Given the description of an element on the screen output the (x, y) to click on. 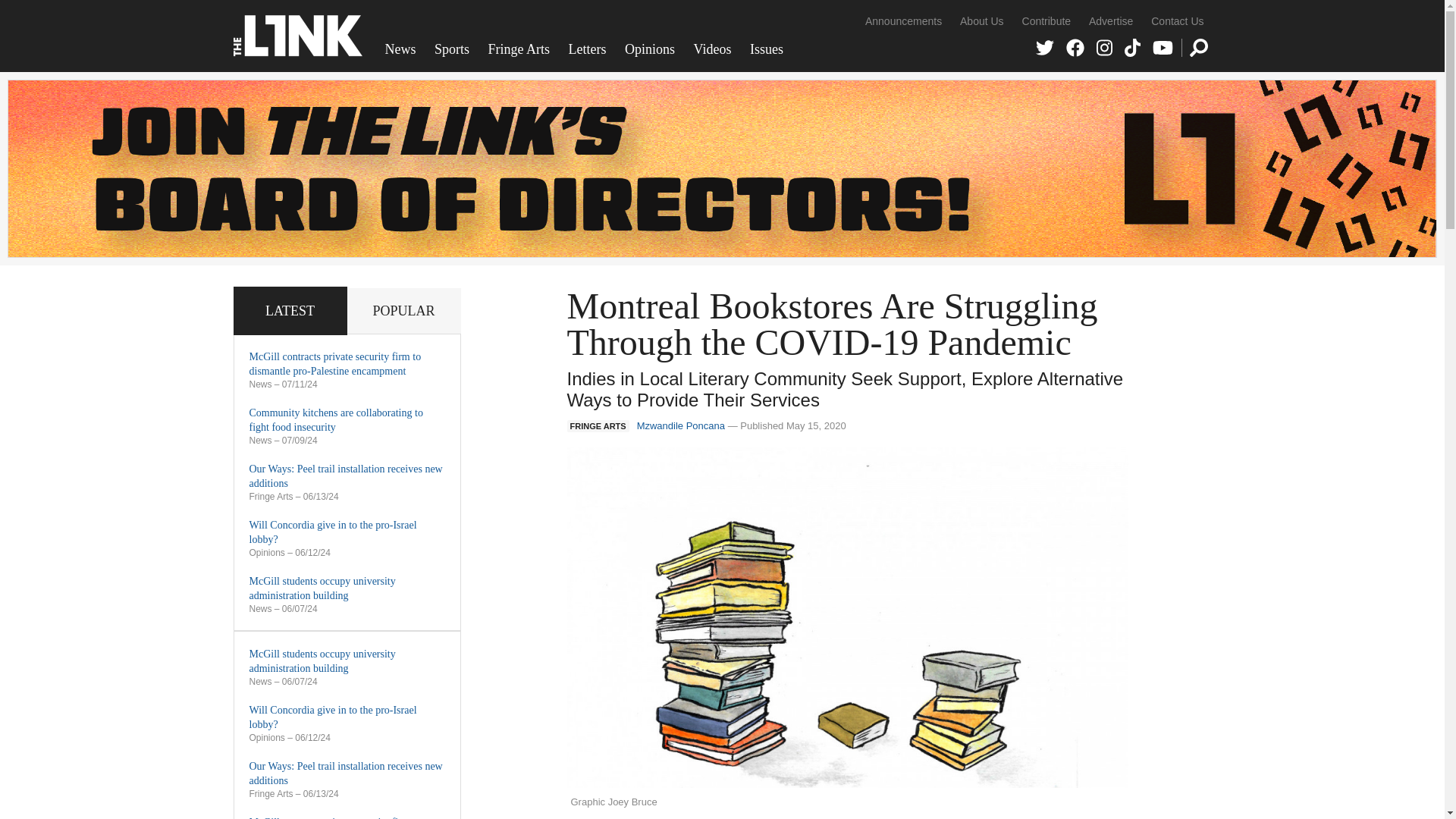
News (400, 49)
Fringe Arts (518, 49)
Videos (712, 49)
Facebook (1074, 47)
Twitter (1044, 47)
Twitter (1044, 47)
YouTube (1163, 47)
Opinions (649, 49)
Search Form (1198, 47)
Search Form (1198, 47)
YouTube (1163, 47)
Letters (587, 49)
Facebook (1074, 47)
Sports (451, 49)
